Given the description of an element on the screen output the (x, y) to click on. 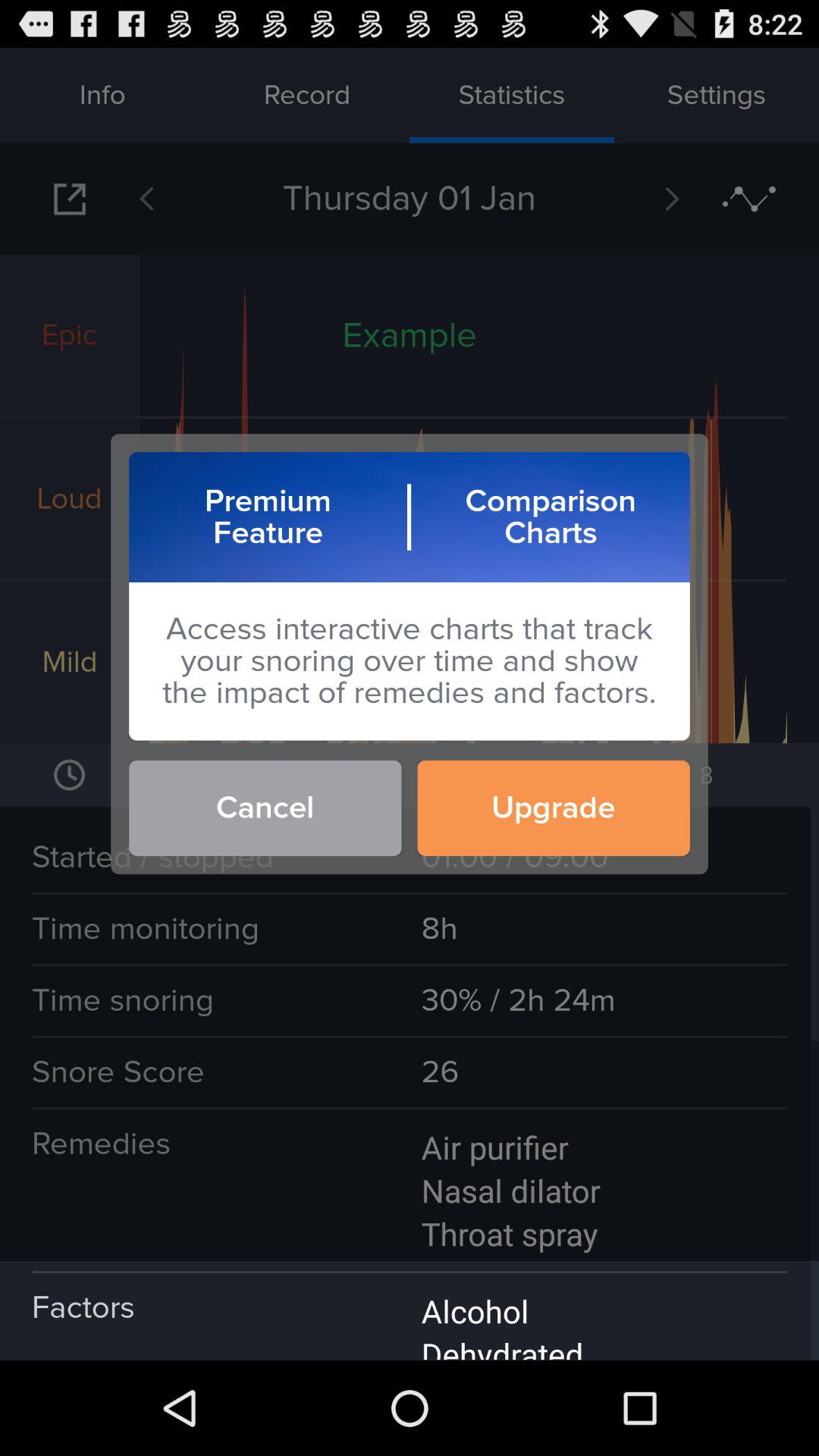
launch the app below the access interactive charts item (265, 807)
